Given the description of an element on the screen output the (x, y) to click on. 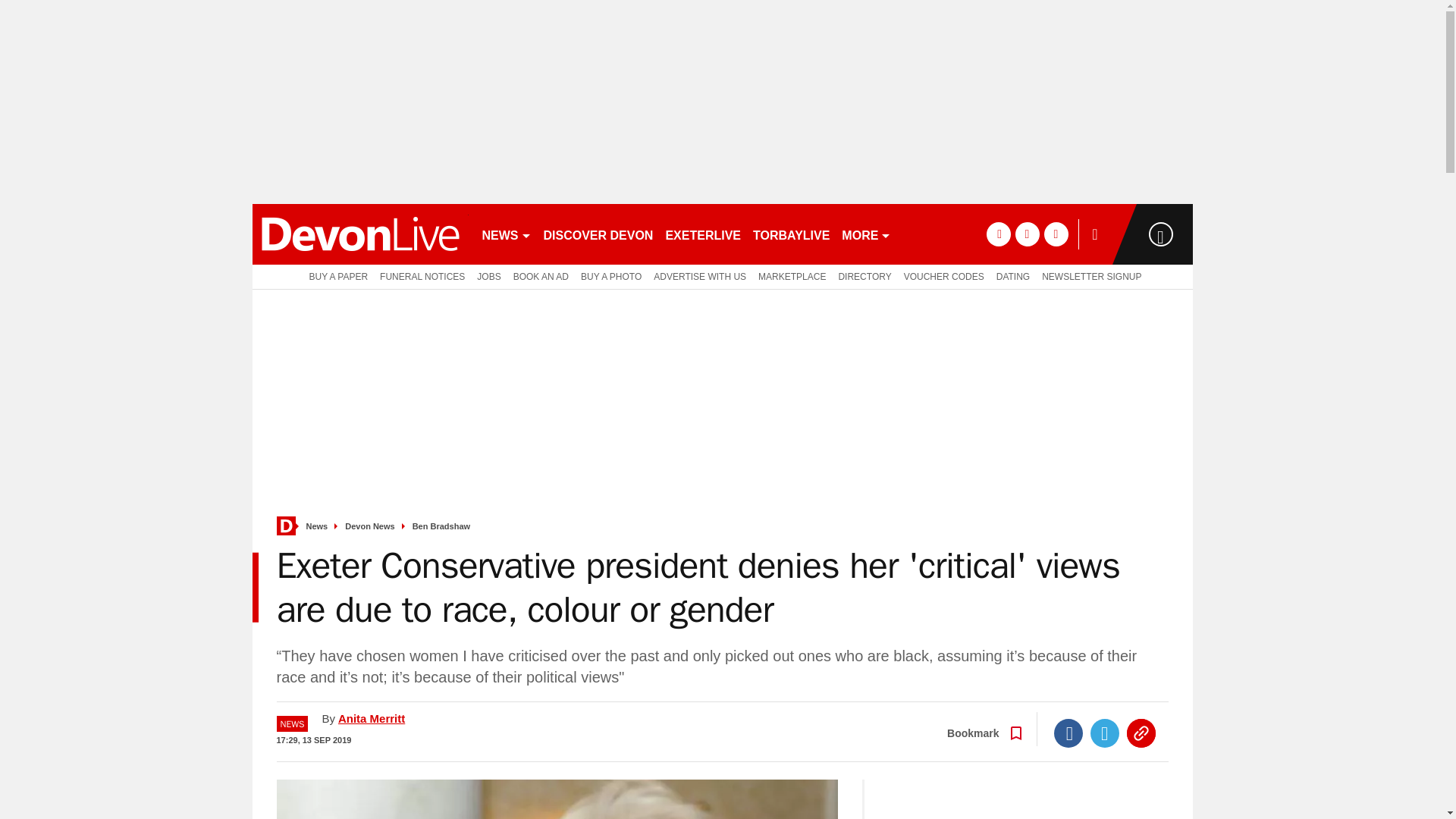
NEWS (506, 233)
EXETERLIVE (702, 233)
facebook (997, 233)
devonlive (359, 233)
instagram (1055, 233)
Twitter (1104, 733)
Facebook (1068, 733)
twitter (1026, 233)
MORE (865, 233)
TORBAYLIVE (790, 233)
